Given the description of an element on the screen output the (x, y) to click on. 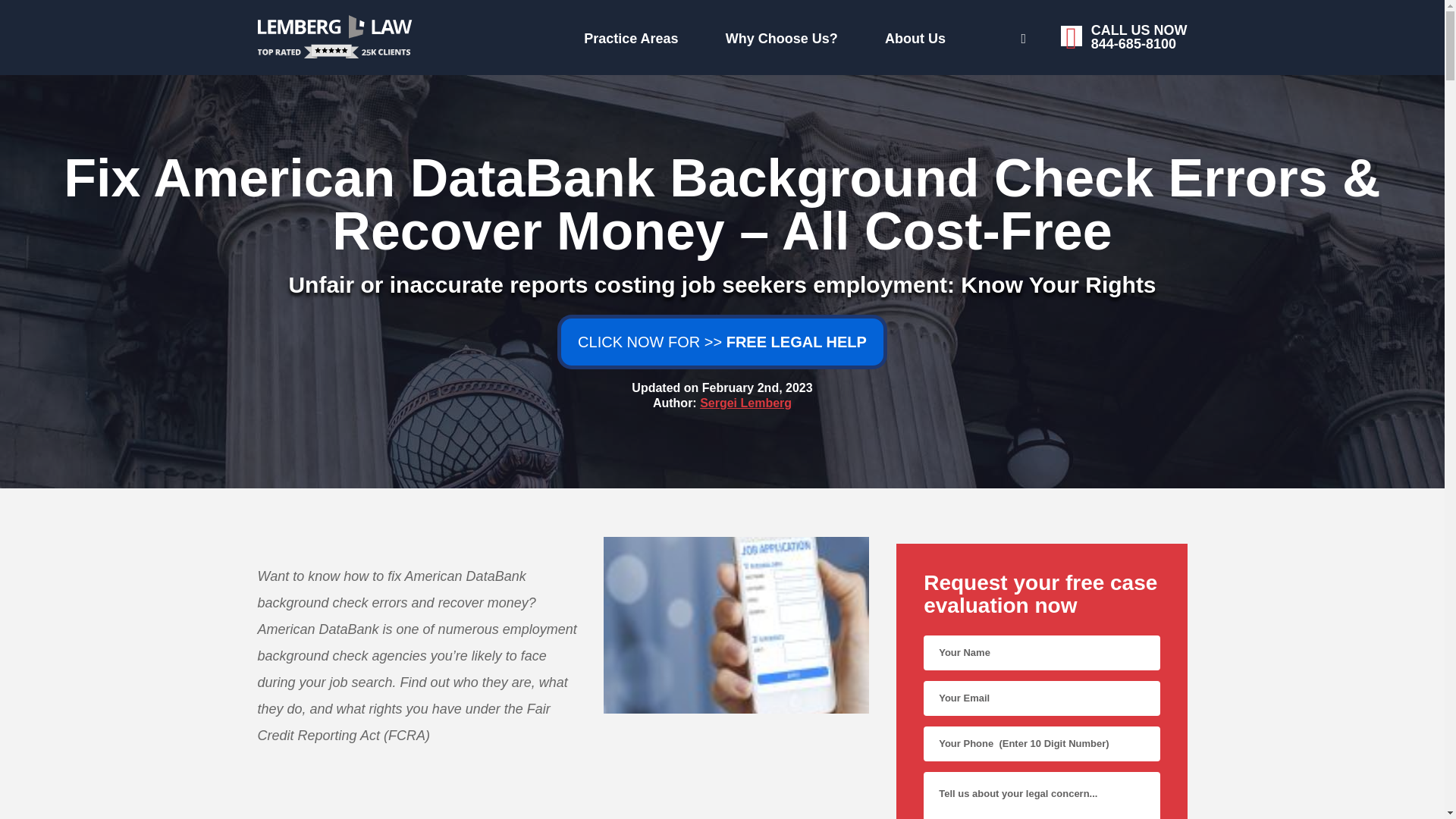
YouTube video (968, 35)
Sergei Lemberg (563, 810)
Why Choose Us? (746, 402)
Practice Areas (627, 35)
About Us (475, 35)
